Given the description of an element on the screen output the (x, y) to click on. 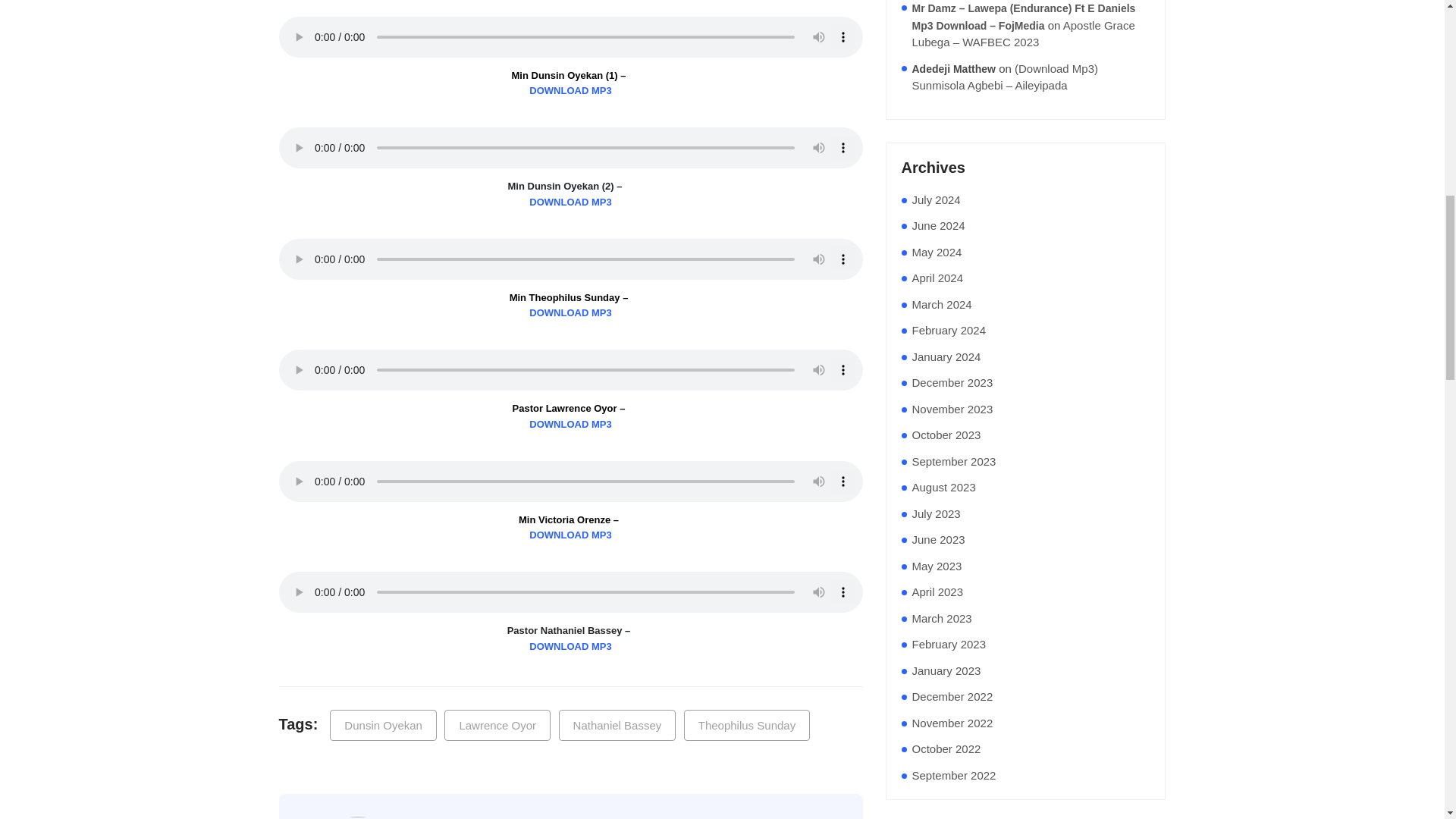
DOWNLOAD MP3 (571, 313)
DOWNLOAD MP3 (571, 91)
DOWNLOAD MP3 (571, 202)
DOWNLOAD MP3 (571, 424)
DOWNLOAD MP3  (571, 202)
DOWNLOAD MP3 (571, 535)
DOWNLOAD MP3 (571, 313)
DOWNLOAD MP3 (571, 424)
DOWNLOAD MP3 (571, 647)
DOWNLOAD MP3 (571, 91)
